Given the description of an element on the screen output the (x, y) to click on. 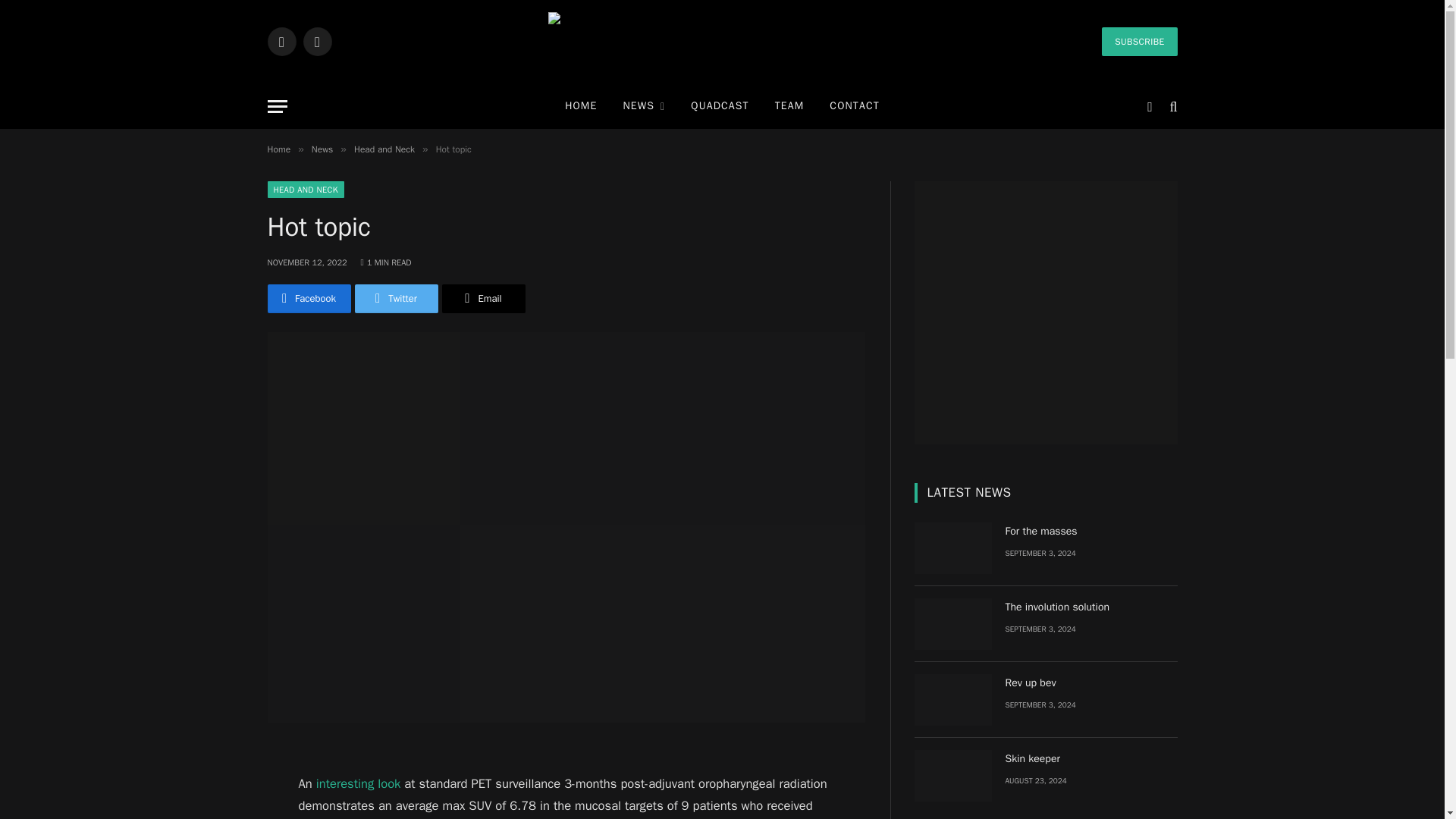
NEWS (644, 106)
QuadShot (721, 41)
Twitter (280, 41)
RSS (316, 41)
HOME (580, 106)
SUBSCRIBE (1139, 41)
